Given the description of an element on the screen output the (x, y) to click on. 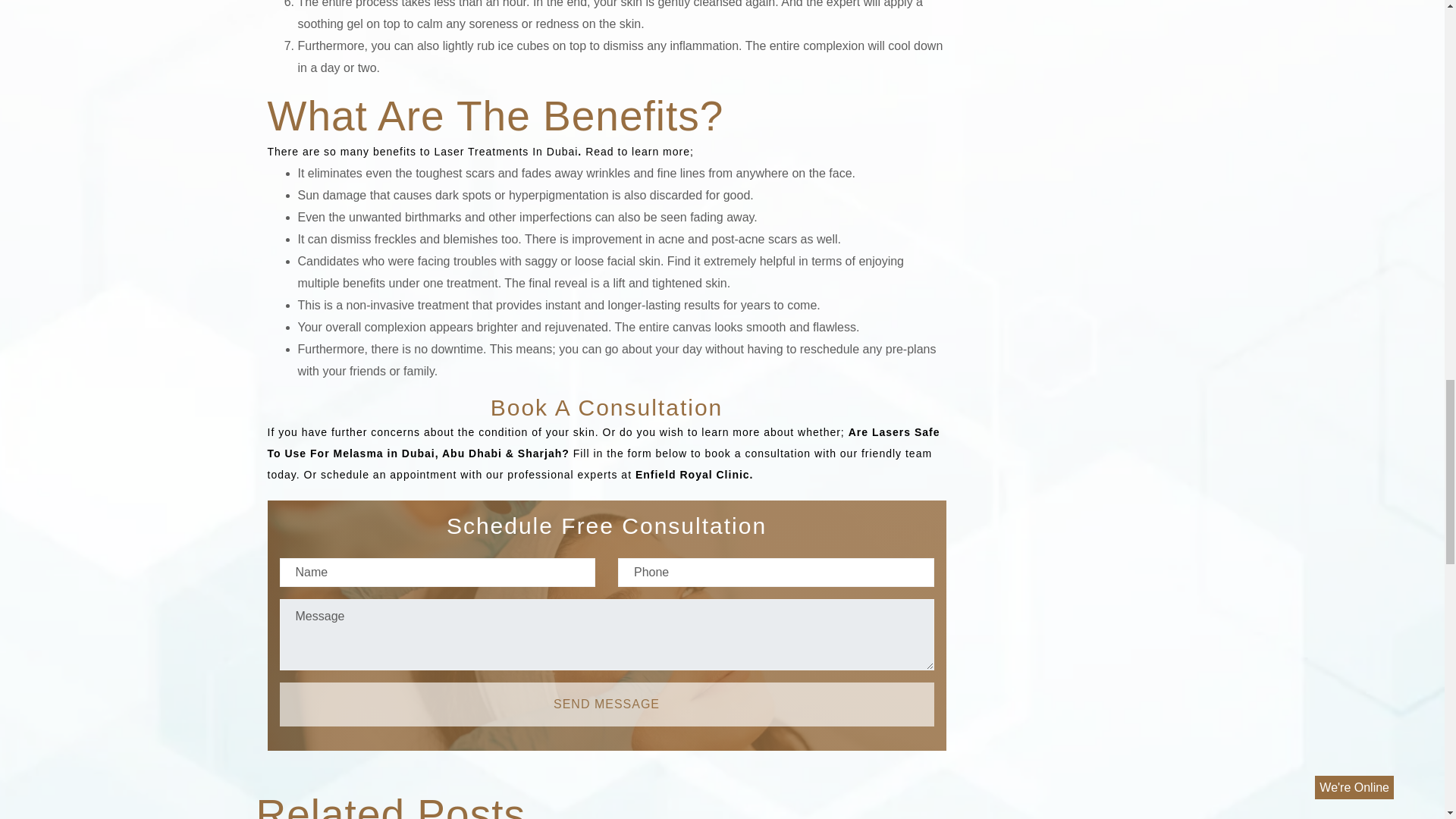
Send Message (606, 704)
